Given the description of an element on the screen output the (x, y) to click on. 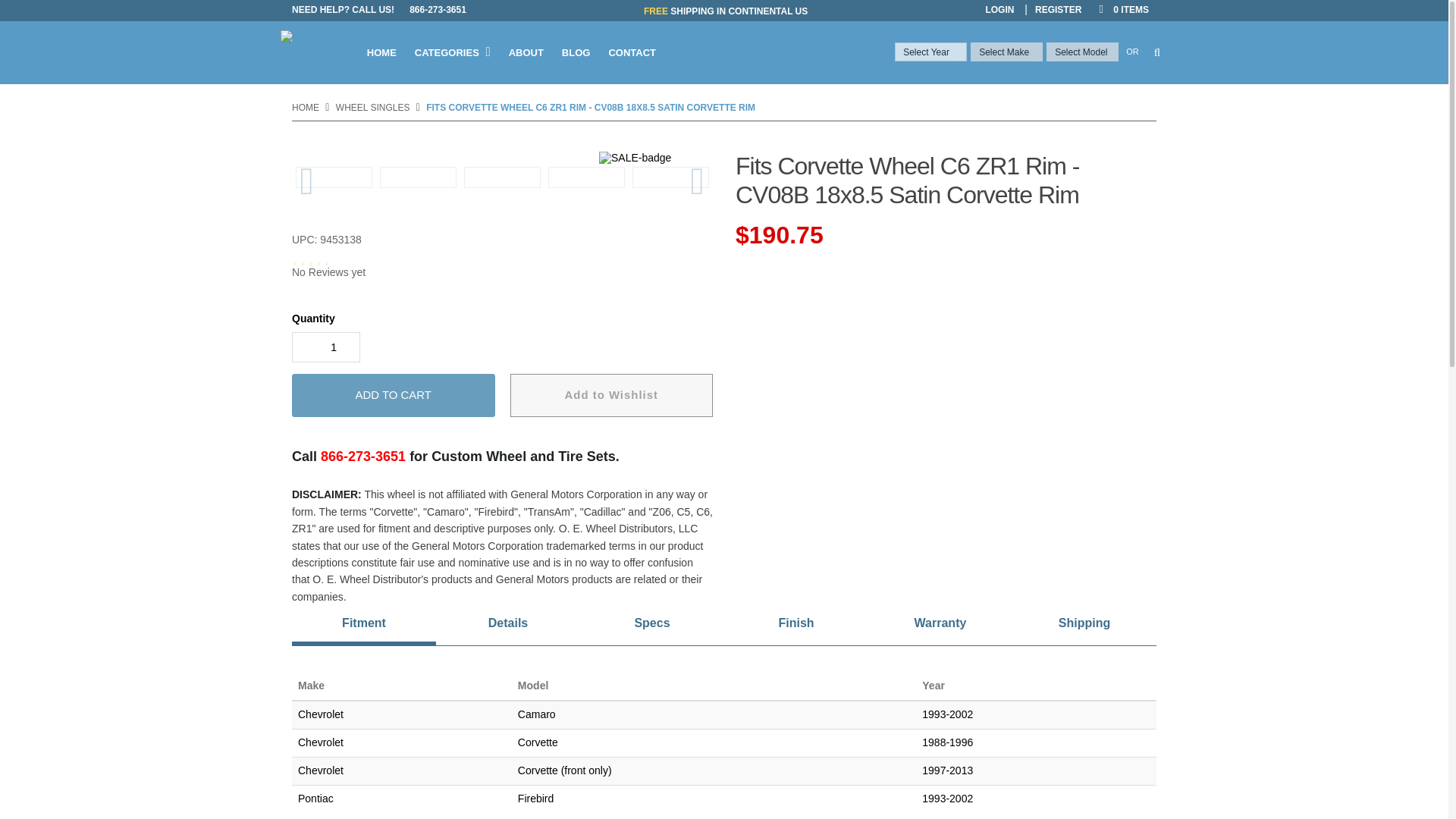
1 (325, 347)
OE Wheels (317, 52)
NEED HELP? CALL US! (346, 9)
0 ITEMS (1122, 9)
REGISTER (1058, 9)
866-273-3651 (437, 9)
LOGIN (999, 9)
CATEGORIES (452, 52)
Cart (1122, 9)
